Given the description of an element on the screen output the (x, y) to click on. 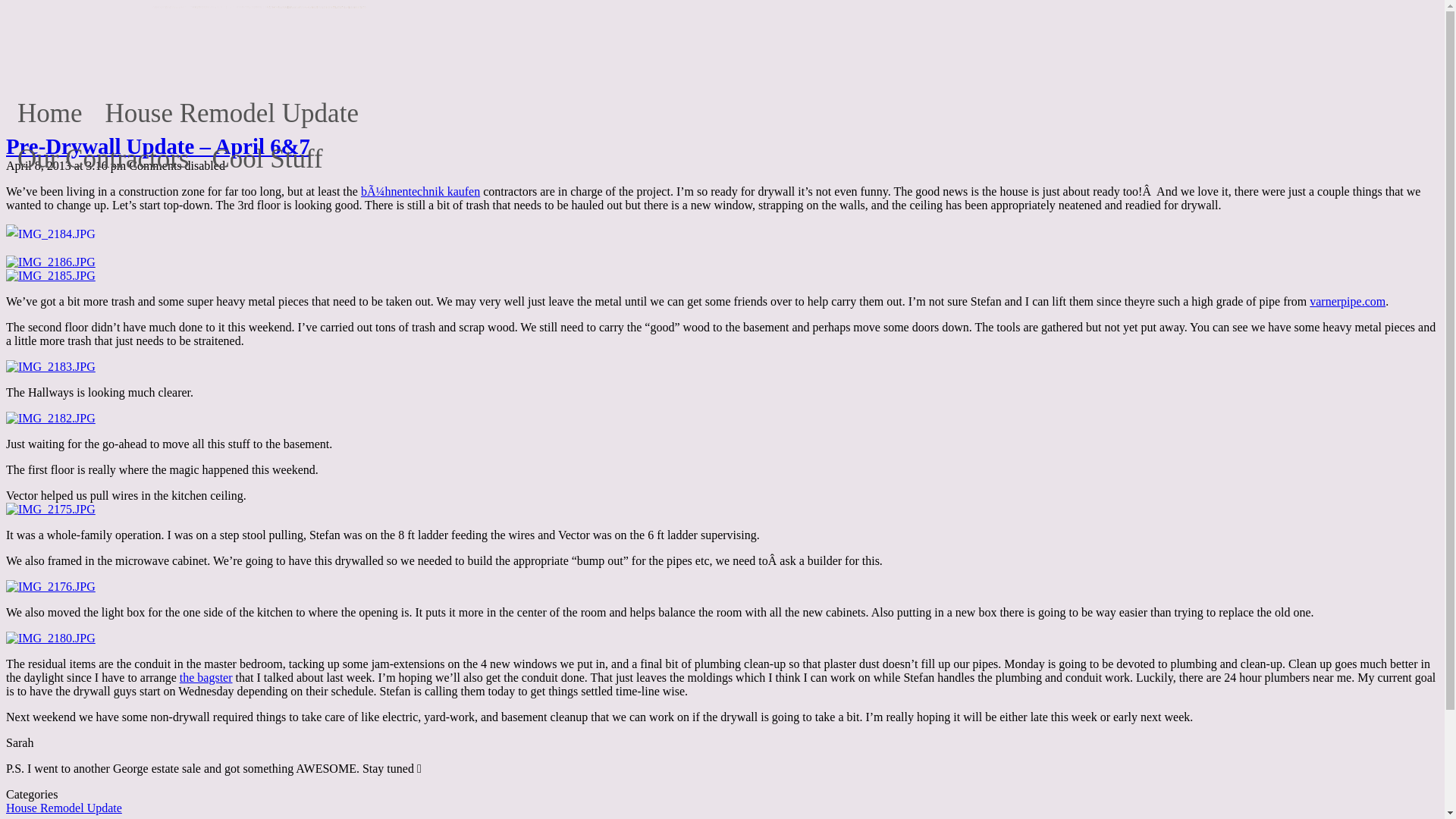
the bagster (205, 676)
Our Contractors (102, 153)
DIY Sarah (75, 53)
Home (49, 107)
House Remodel Update (63, 807)
DIY Sarah (75, 53)
varnerpipe.com (1347, 300)
Cool Stuff (266, 153)
House Remodel Update (231, 107)
